Given the description of an element on the screen output the (x, y) to click on. 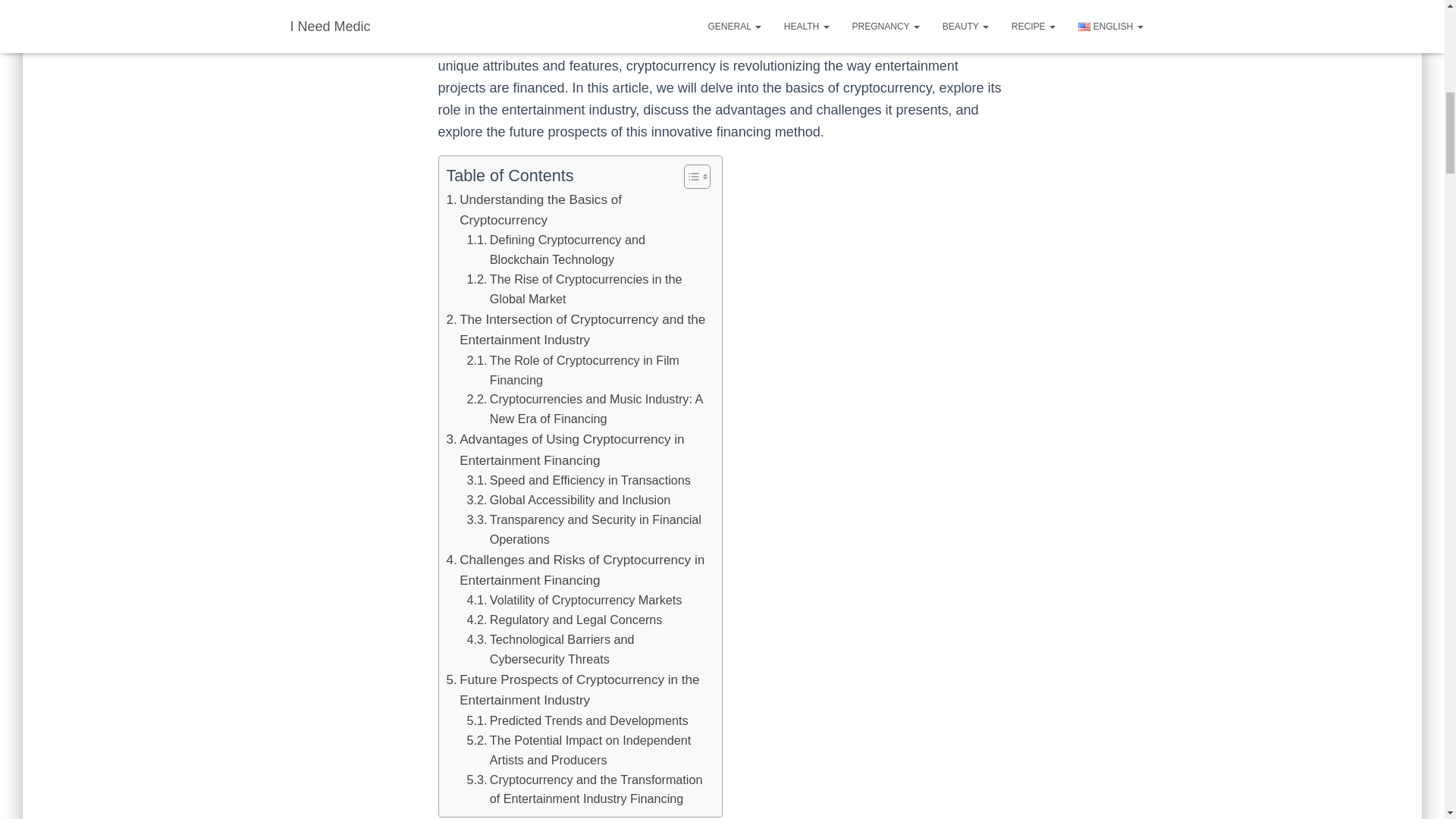
Global Accessibility and Inclusion (569, 500)
Technological Barriers and Cybersecurity Threats (586, 649)
Speed and Efficiency in Transactions (578, 480)
Understanding the Basics of Cryptocurrency (575, 209)
The Rise of Cryptocurrencies in the Global Market (586, 289)
Regulatory and Legal Concerns (564, 619)
Predicted Trends and Developments (577, 721)
Transparency and Security in Financial Operations (586, 529)
